Given the description of an element on the screen output the (x, y) to click on. 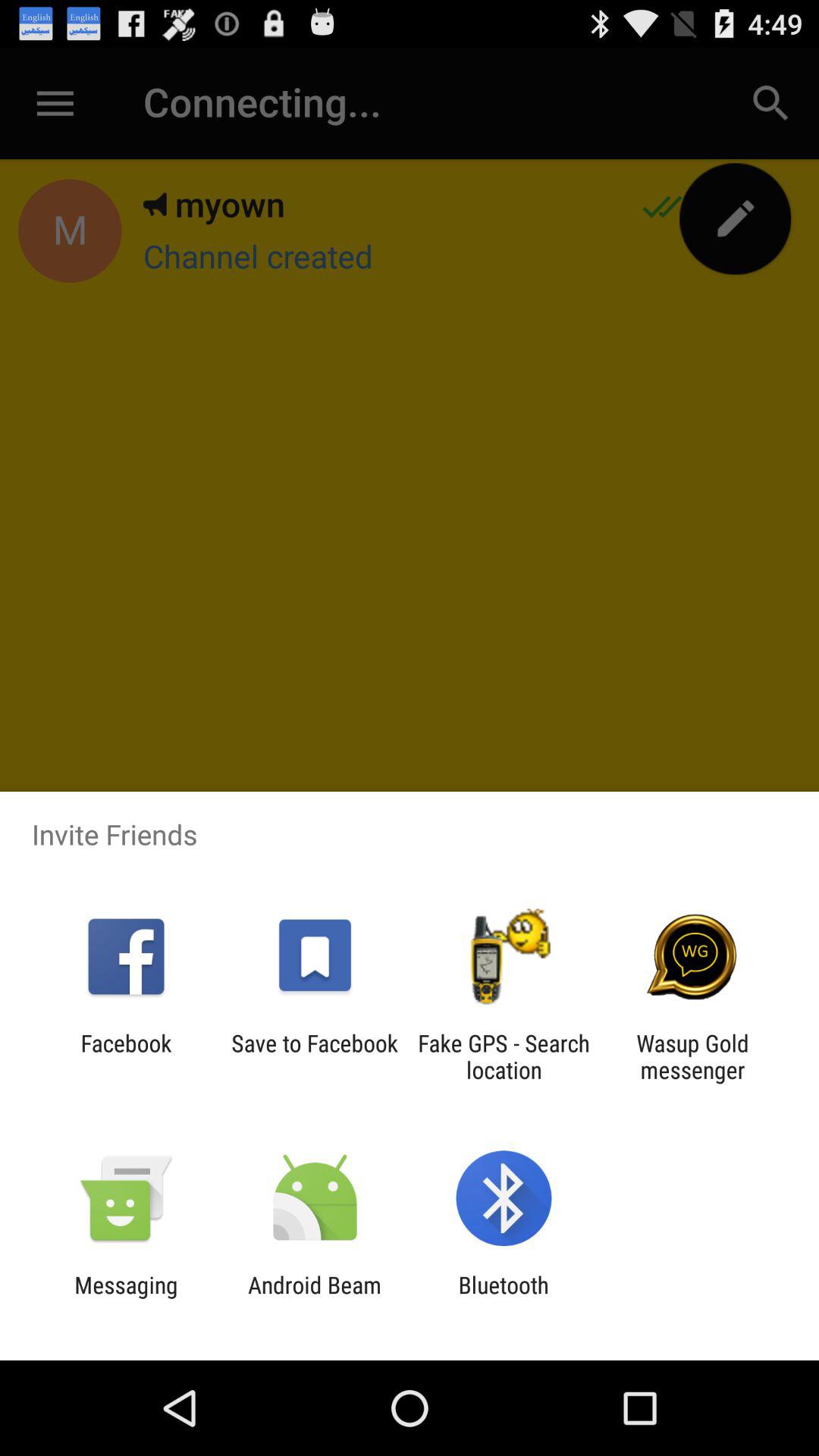
press the icon to the left of wasup gold messenger item (503, 1056)
